Given the description of an element on the screen output the (x, y) to click on. 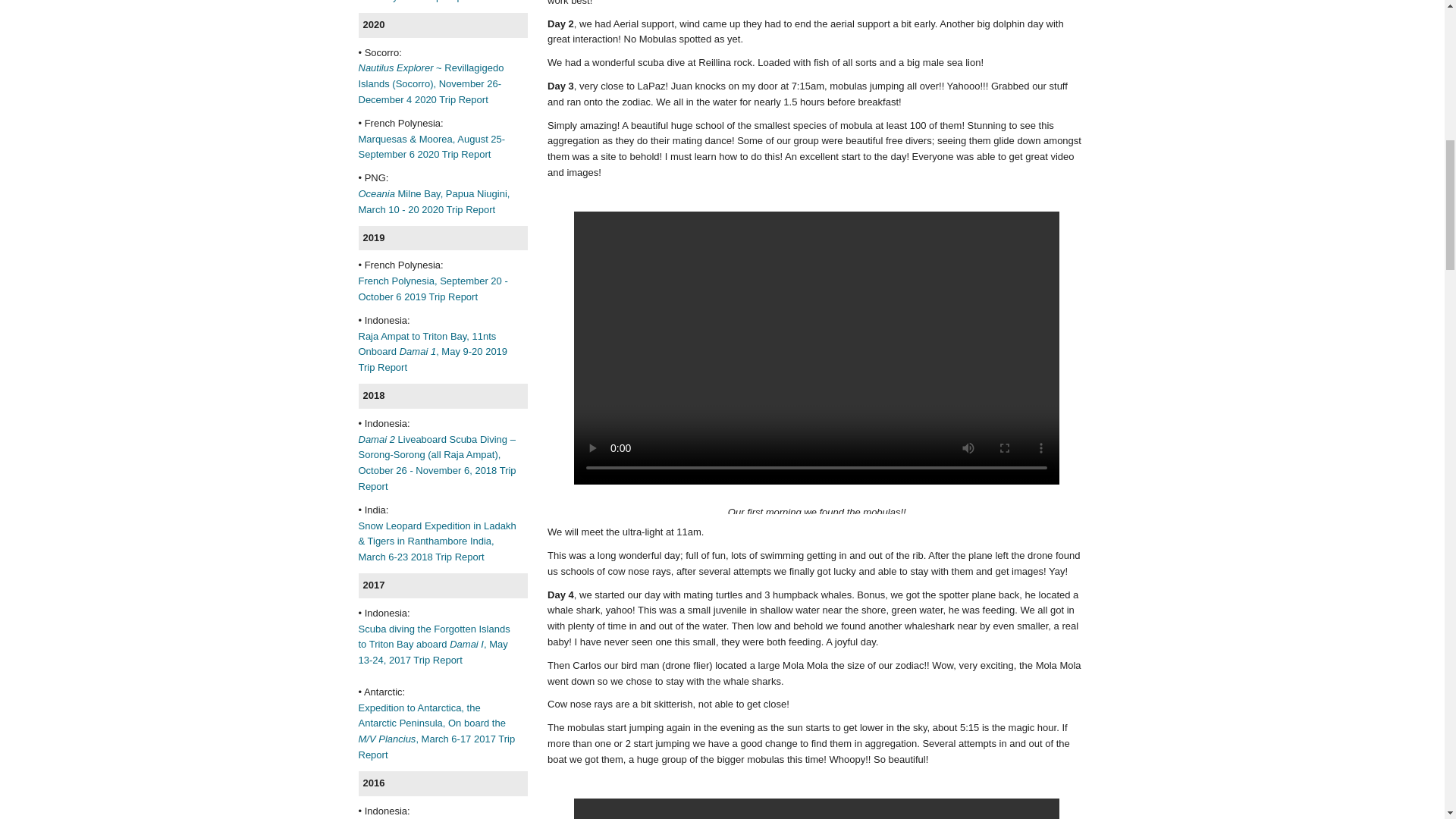
French Polynesia, September 20 - October 6 2019 Trip Report (432, 288)
